Given the description of an element on the screen output the (x, y) to click on. 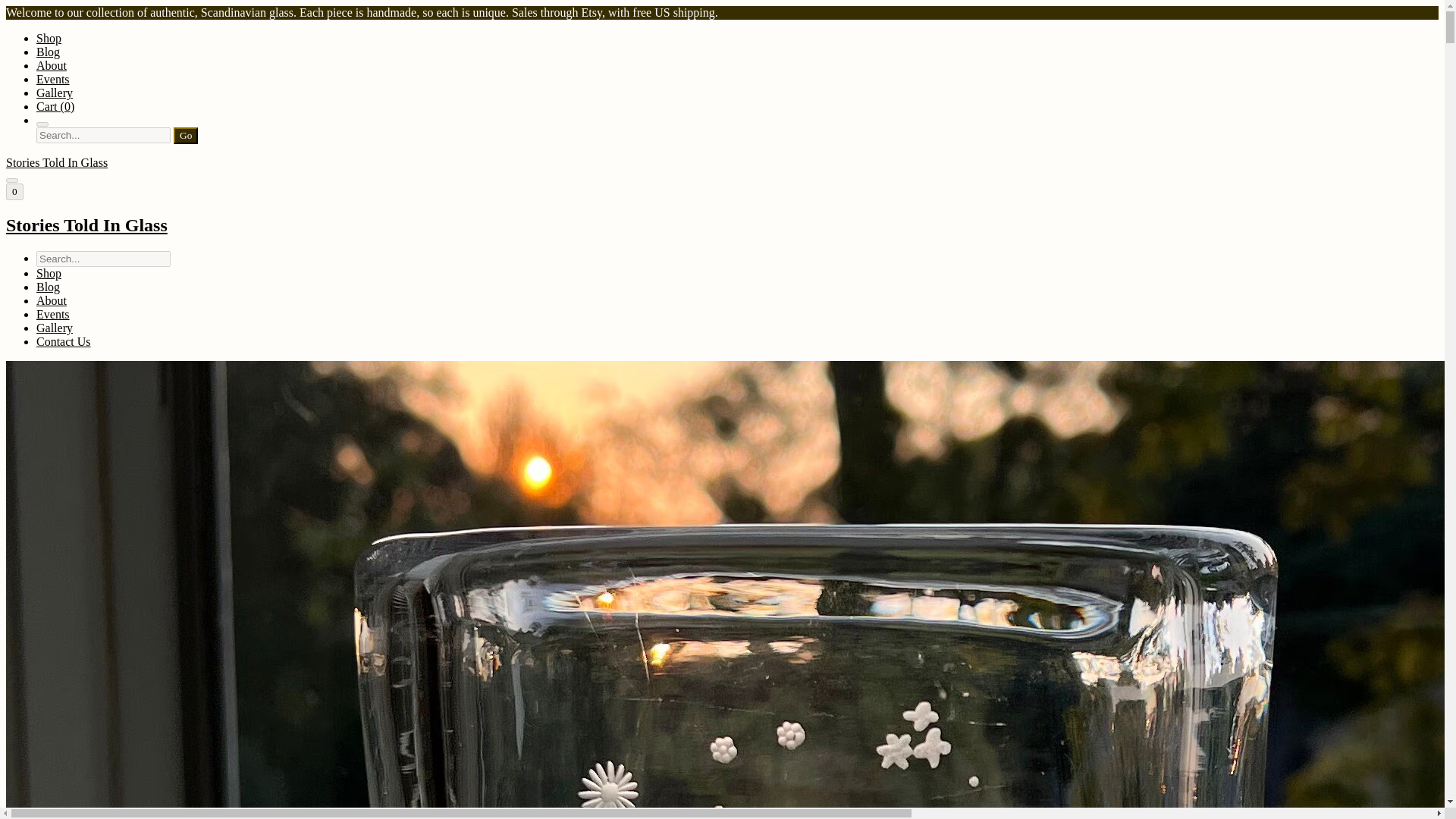
Go (185, 135)
Blog (47, 51)
Stories Told In Glass (721, 225)
Shop (48, 38)
About (51, 65)
Events (52, 314)
Go (185, 135)
Shop (48, 273)
Blog (47, 286)
0 (14, 191)
Gallery (54, 92)
Contact Us (63, 341)
Gallery (54, 327)
About (51, 300)
